Given the description of an element on the screen output the (x, y) to click on. 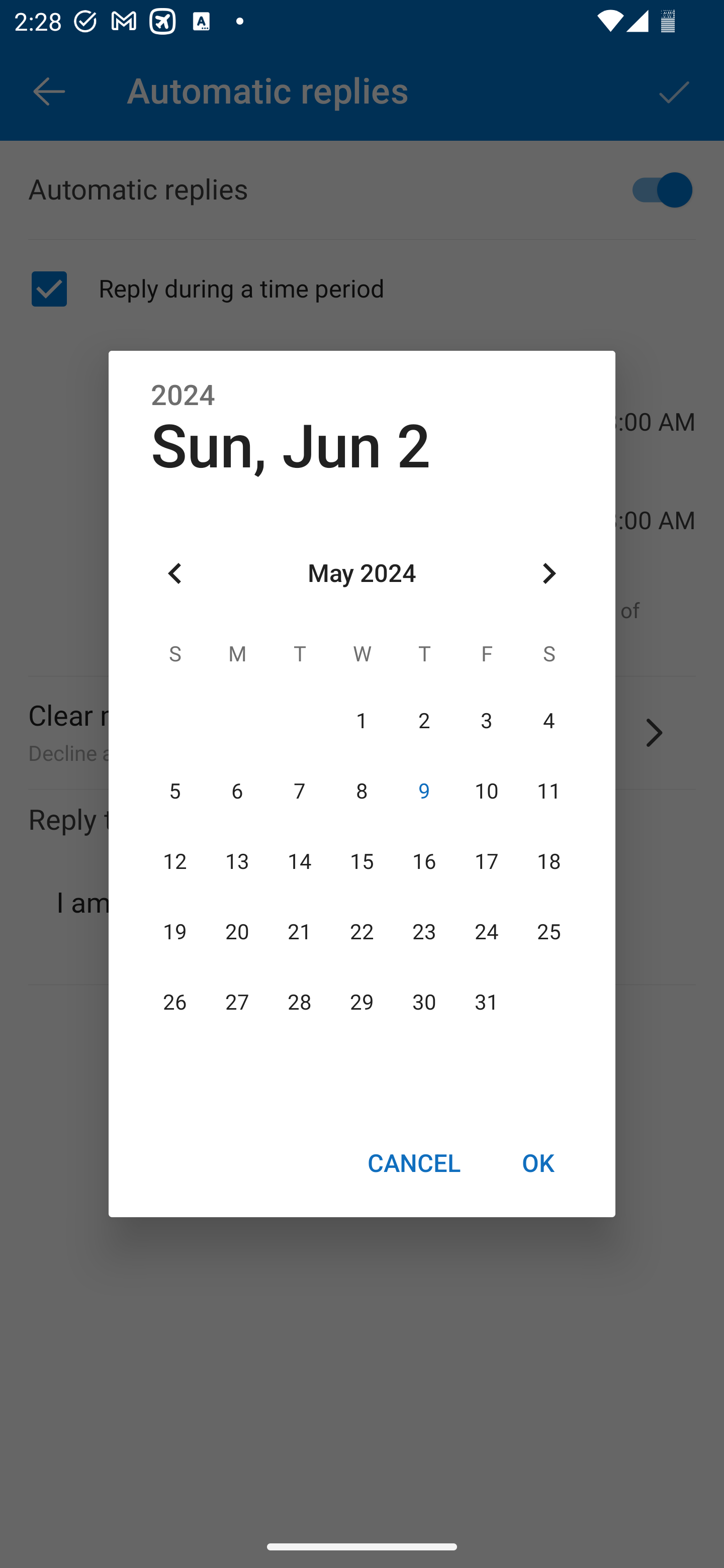
2024 (182, 395)
Sun, Jun 2 (290, 446)
Previous month (174, 573)
Next month (548, 573)
1 01 May 2024 (361, 720)
2 02 May 2024 (424, 720)
3 03 May 2024 (486, 720)
4 04 May 2024 (548, 720)
5 05 May 2024 (175, 790)
6 06 May 2024 (237, 790)
7 07 May 2024 (299, 790)
8 08 May 2024 (361, 790)
9 09 May 2024 (424, 790)
10 10 May 2024 (486, 790)
11 11 May 2024 (548, 790)
12 12 May 2024 (175, 861)
13 13 May 2024 (237, 861)
14 14 May 2024 (299, 861)
15 15 May 2024 (361, 861)
16 16 May 2024 (424, 861)
17 17 May 2024 (486, 861)
18 18 May 2024 (548, 861)
19 19 May 2024 (175, 931)
20 20 May 2024 (237, 931)
21 21 May 2024 (299, 931)
22 22 May 2024 (361, 931)
23 23 May 2024 (424, 931)
24 24 May 2024 (486, 931)
25 25 May 2024 (548, 931)
26 26 May 2024 (175, 1002)
27 27 May 2024 (237, 1002)
28 28 May 2024 (299, 1002)
29 29 May 2024 (361, 1002)
30 30 May 2024 (424, 1002)
31 31 May 2024 (486, 1002)
CANCEL (413, 1162)
OK (537, 1162)
